Given the description of an element on the screen output the (x, y) to click on. 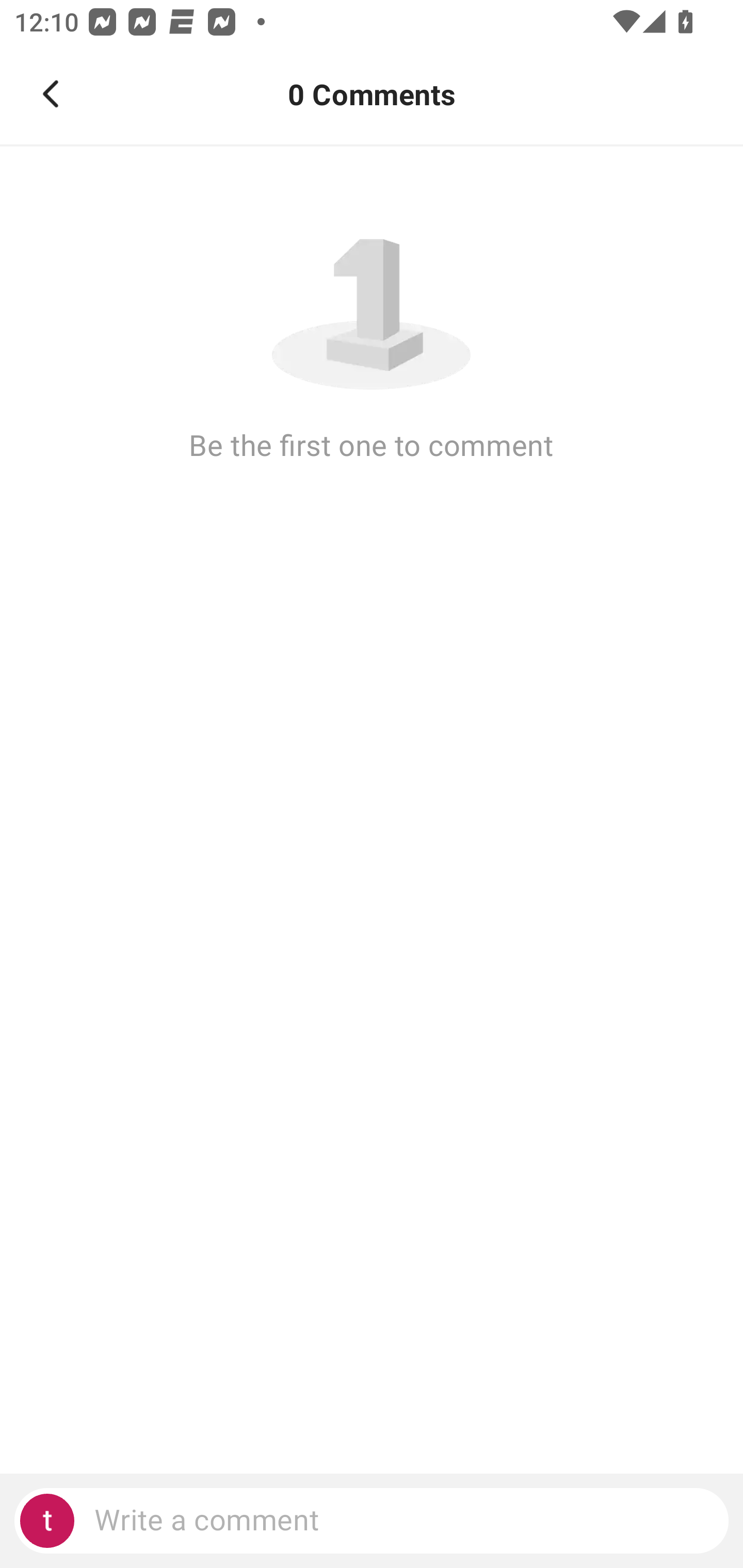
Navigate up (50, 93)
Write a comment (371, 1520)
